Given the description of an element on the screen output the (x, y) to click on. 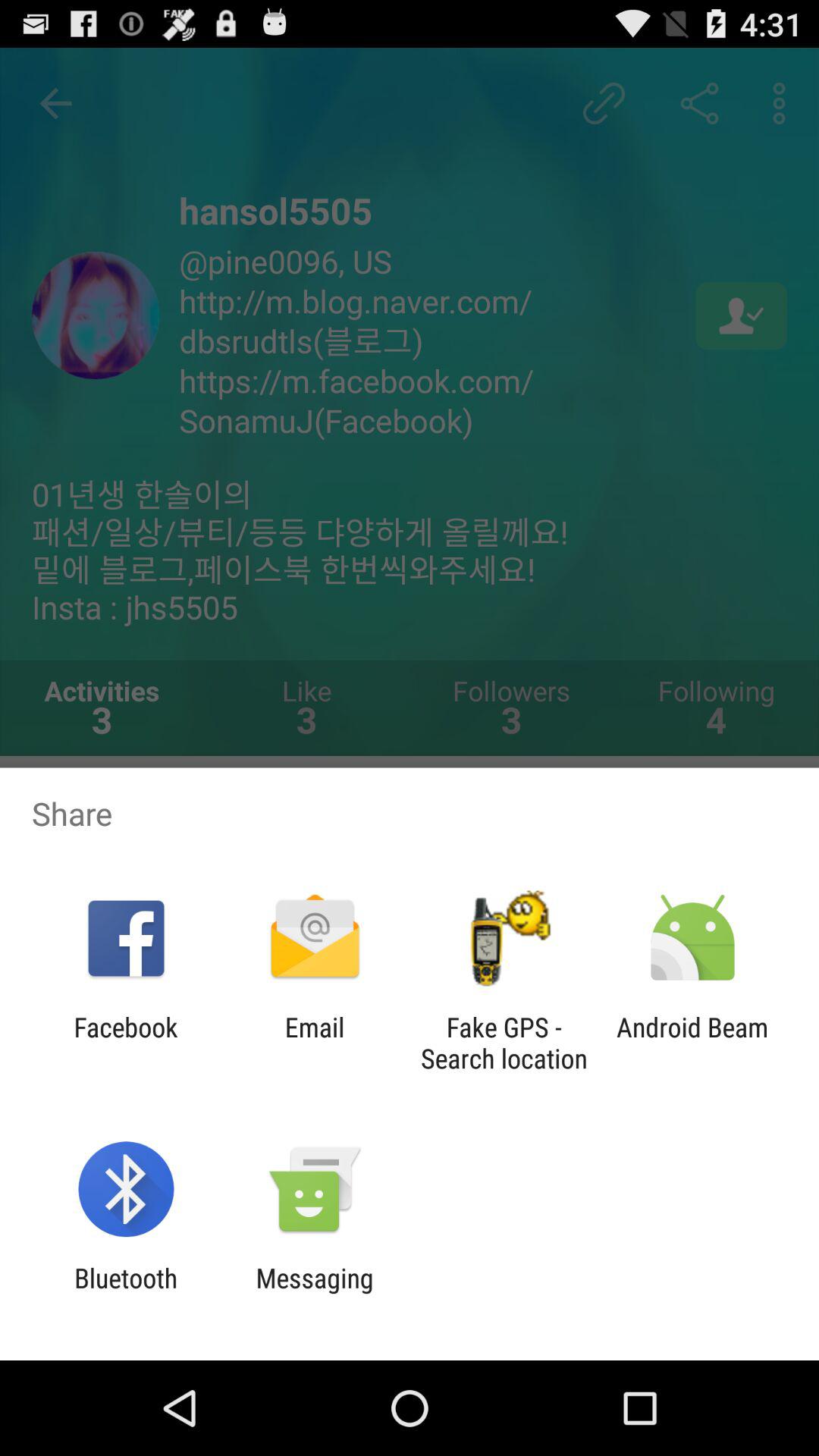
press the messaging item (314, 1293)
